Given the description of an element on the screen output the (x, y) to click on. 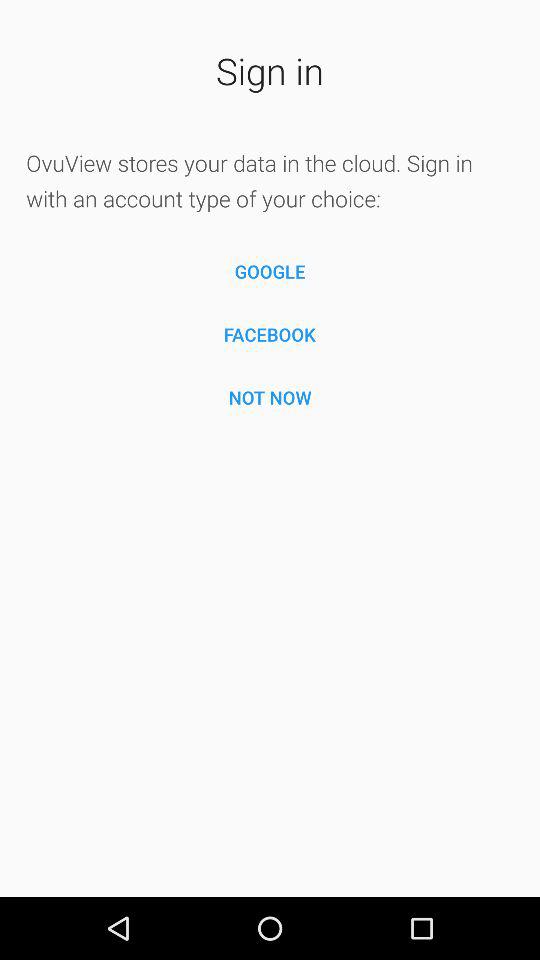
choose not now item (269, 397)
